Given the description of an element on the screen output the (x, y) to click on. 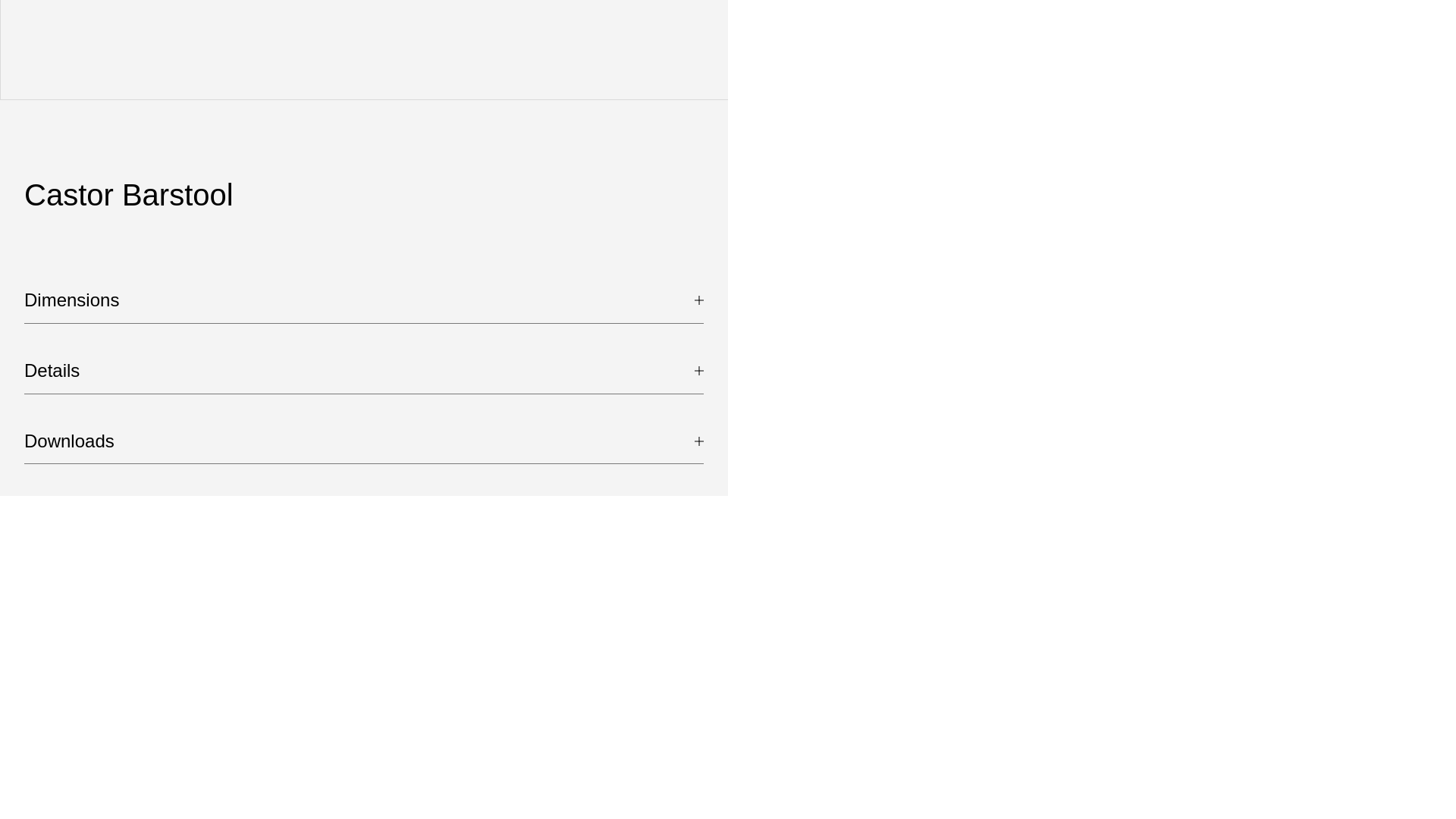
Details (363, 376)
Downloads (363, 447)
Dimensions (363, 305)
